Given the description of an element on the screen output the (x, y) to click on. 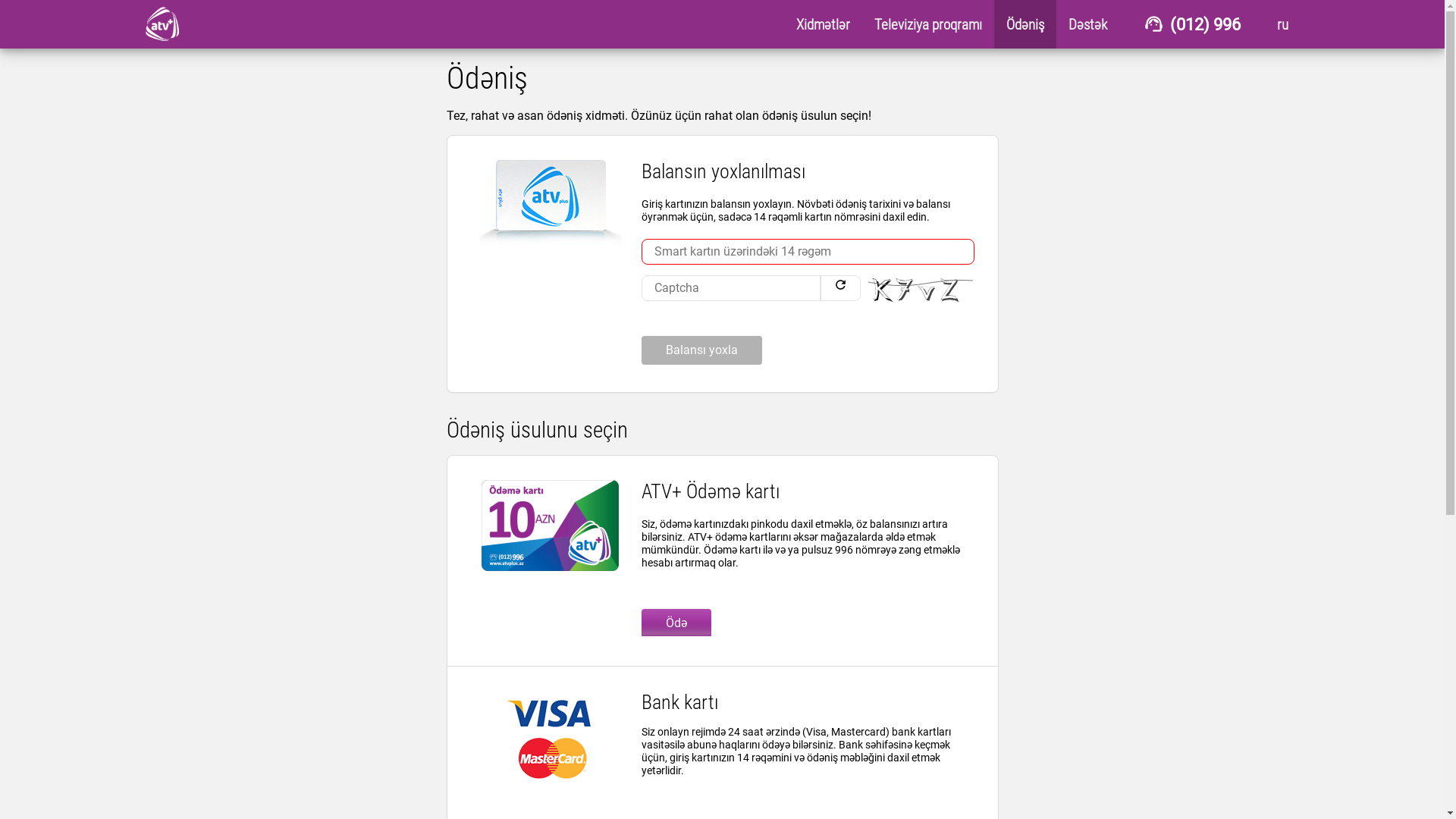
refresh Element type: text (840, 288)
ru Element type: text (1282, 24)
